Given the description of an element on the screen output the (x, y) to click on. 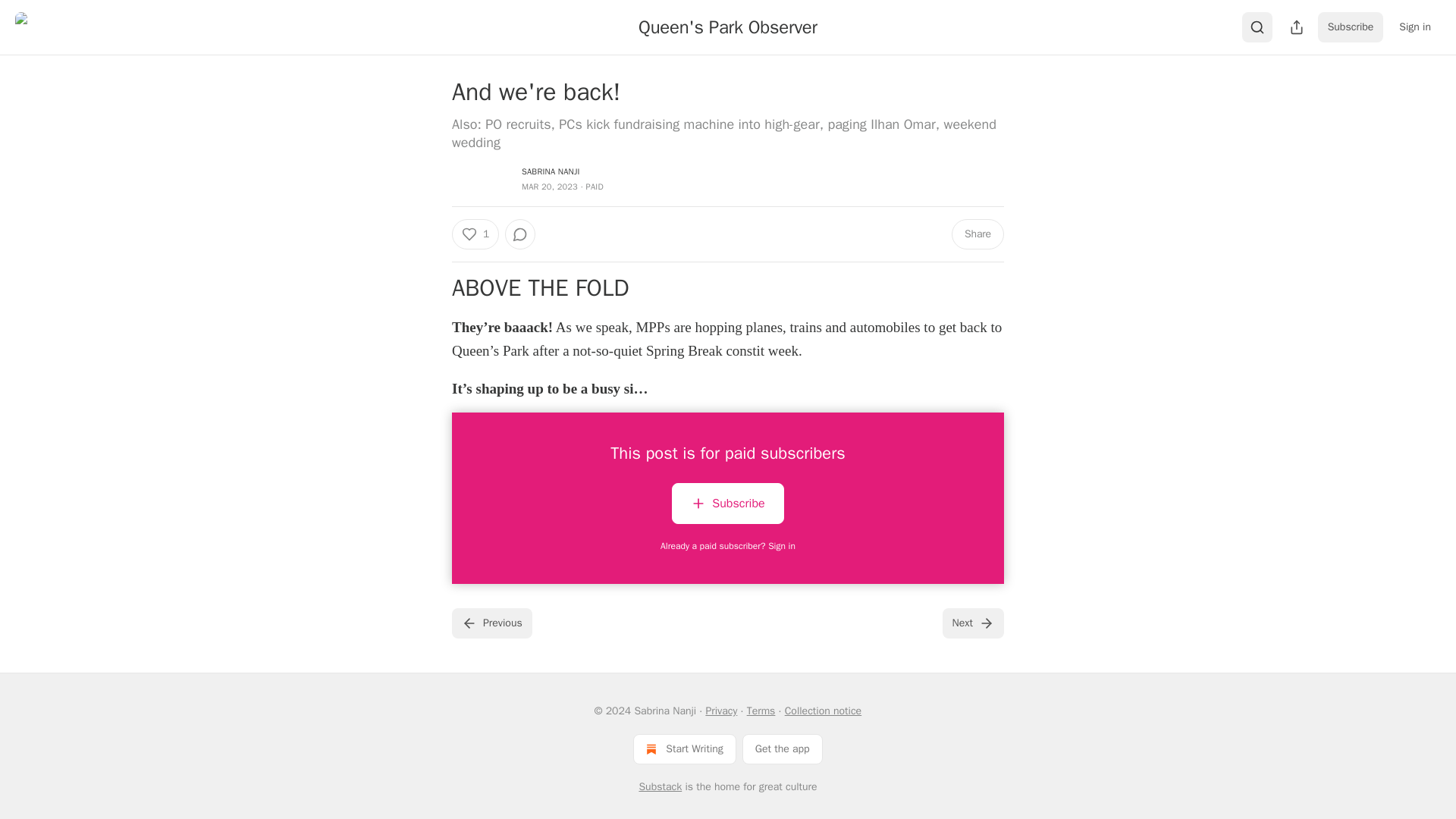
Privacy (720, 710)
Subscribe (727, 503)
Subscribe (1350, 27)
Sign in (1415, 27)
Subscribe (727, 506)
Queen's Park Observer (727, 26)
SABRINA NANJI (550, 171)
Start Writing (684, 748)
Collection notice (822, 710)
1 (475, 234)
Next (973, 623)
Already a paid subscriber? Sign in (727, 545)
Get the app (782, 748)
Previous (491, 623)
Substack (660, 786)
